Given the description of an element on the screen output the (x, y) to click on. 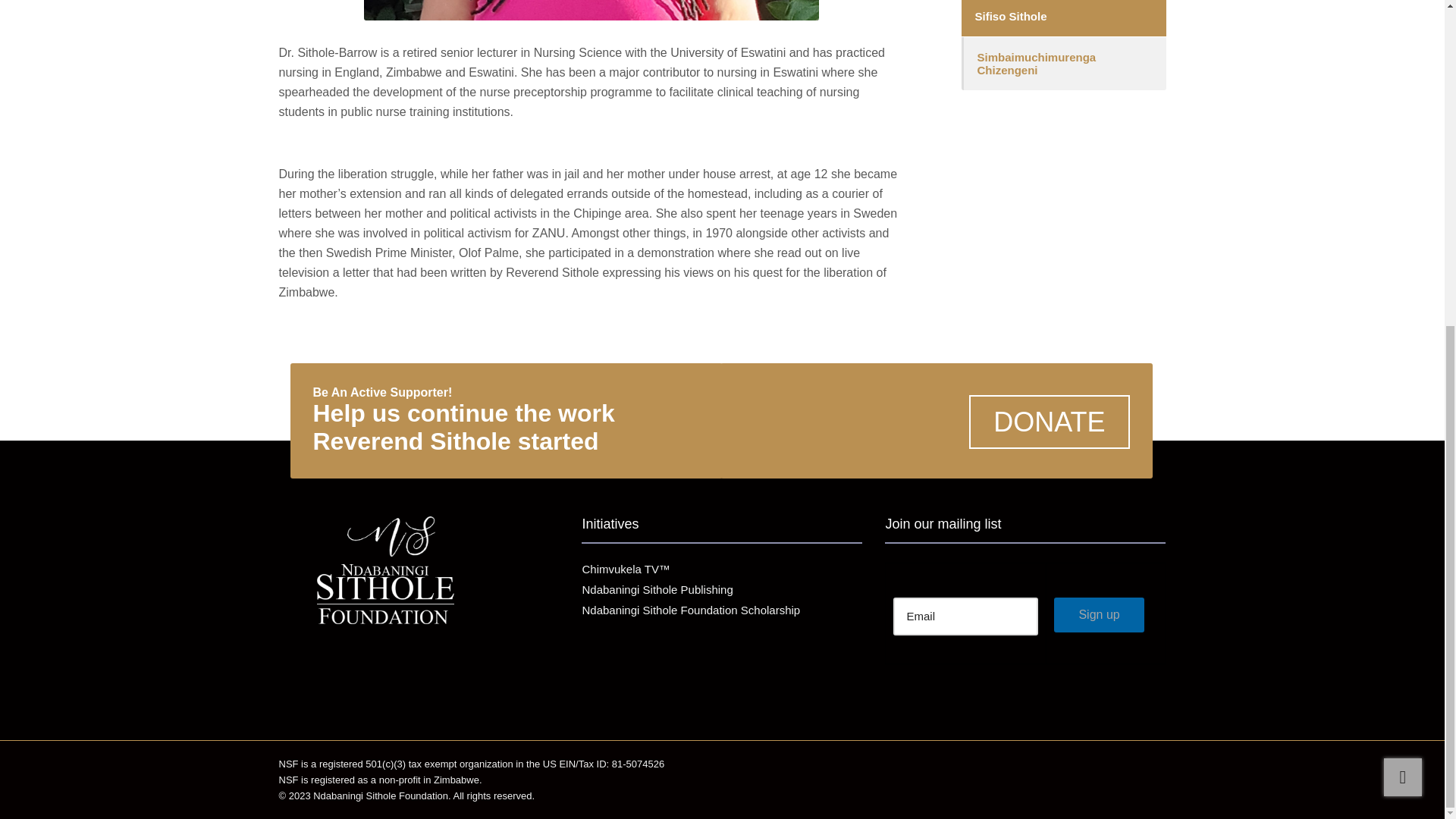
Sign up (1098, 614)
DONATE (1049, 421)
Sign up (1098, 614)
Sifiso Sithole (1063, 18)
Scroll to the top (1403, 240)
Ndabaningi Sithole Foundation Scholarship (720, 609)
Simbaimuchimurenga Chizengeni (1063, 63)
Email (965, 616)
Ndabaningi Sithole Publishing (720, 589)
